Given the description of an element on the screen output the (x, y) to click on. 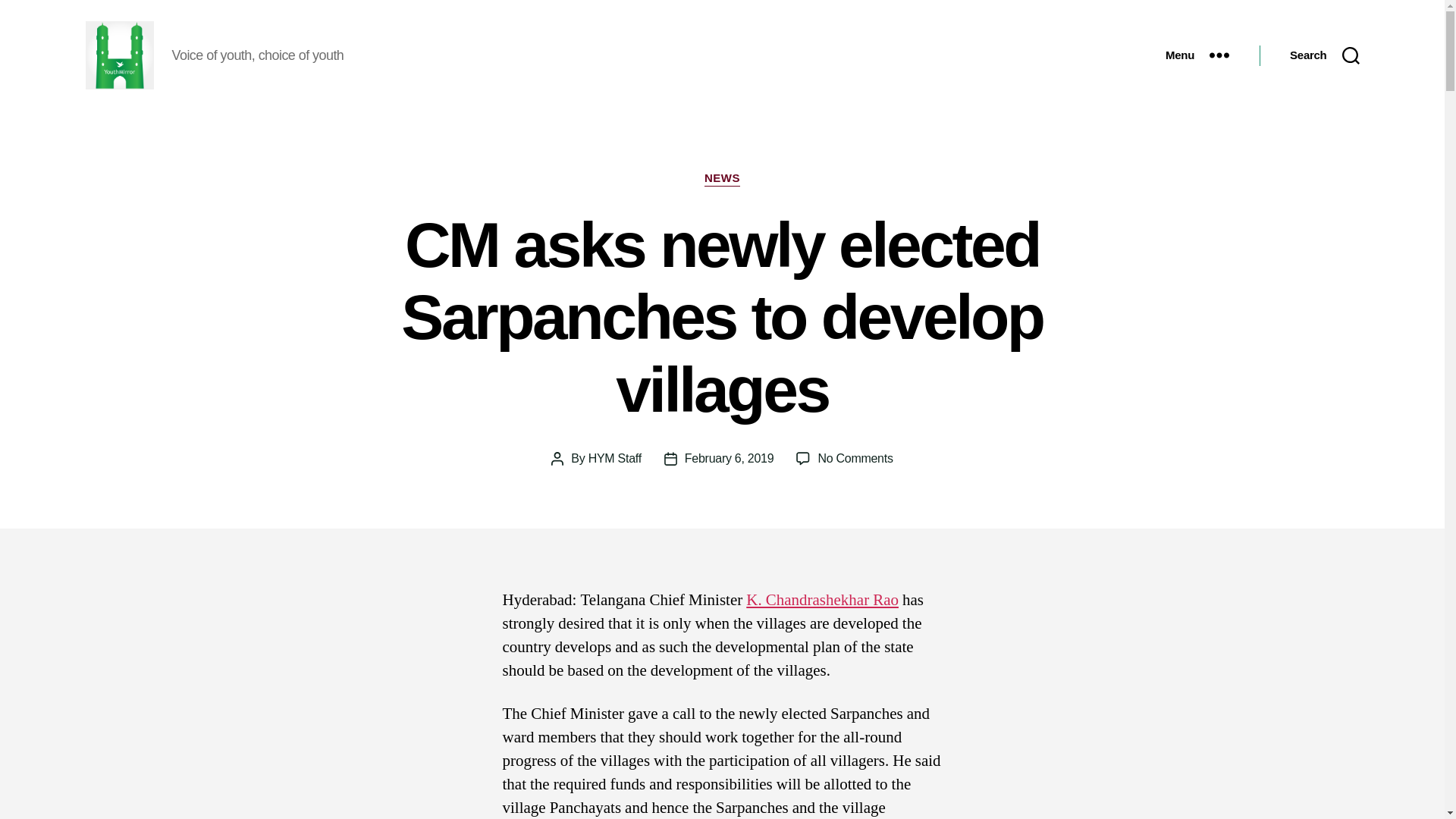
K. Chandrashekhar Rao (821, 599)
HYM Staff (615, 458)
NEWS (721, 178)
February 6, 2019 (729, 458)
Menu (1197, 55)
Search (1324, 55)
